Given the description of an element on the screen output the (x, y) to click on. 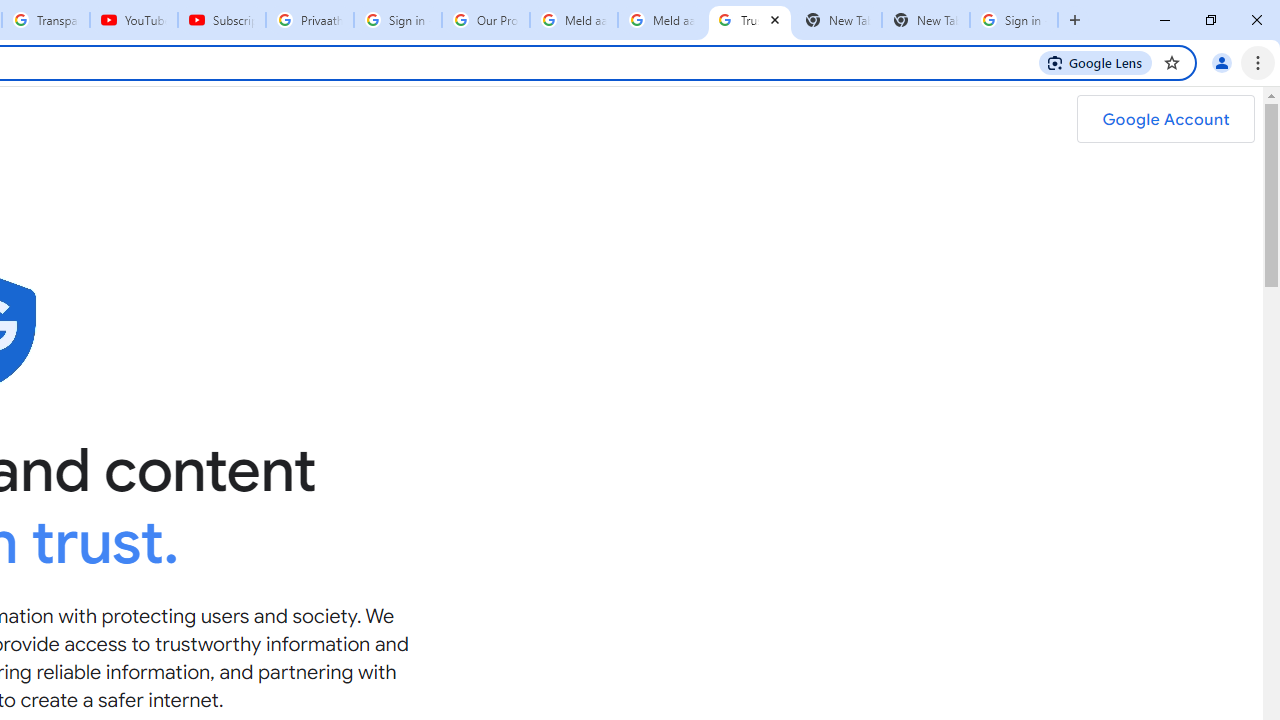
Restore (1210, 20)
Google Account (1165, 119)
Sign in - Google Accounts (1014, 20)
